Given the description of an element on the screen output the (x, y) to click on. 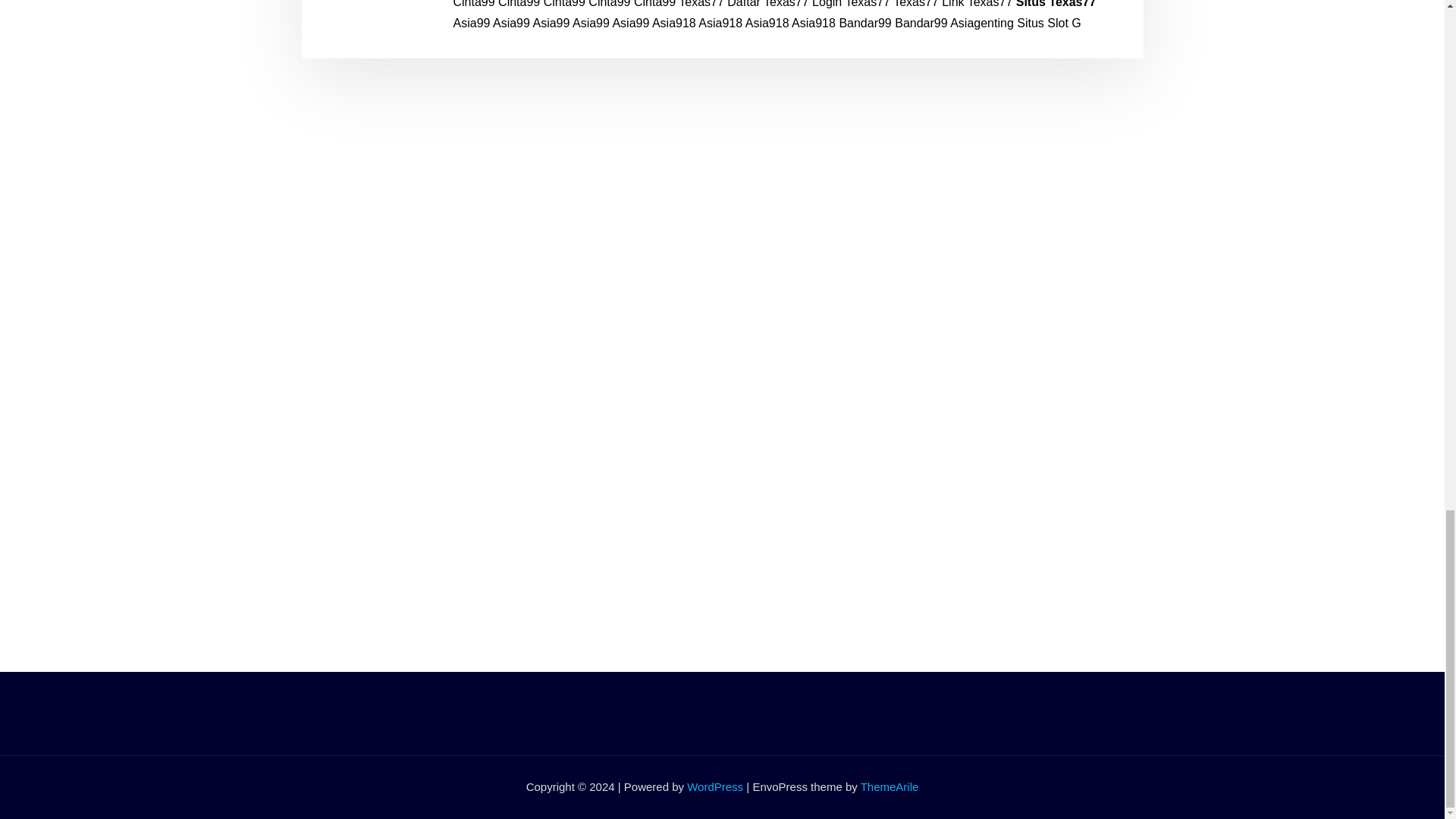
Texas77 (916, 4)
Texas77 (700, 4)
Asia99 (630, 22)
Asia99 (511, 22)
Cinta99 (473, 4)
Daftar Texas77 (767, 4)
Asia918 (720, 22)
Link Texas77 (976, 4)
Cinta99 (564, 4)
Asia918 (673, 22)
Asia99 (550, 22)
Situs Texas77 (1056, 4)
Cinta99 (518, 4)
Login Texas77 (850, 4)
Asia918 (767, 22)
